Given the description of an element on the screen output the (x, y) to click on. 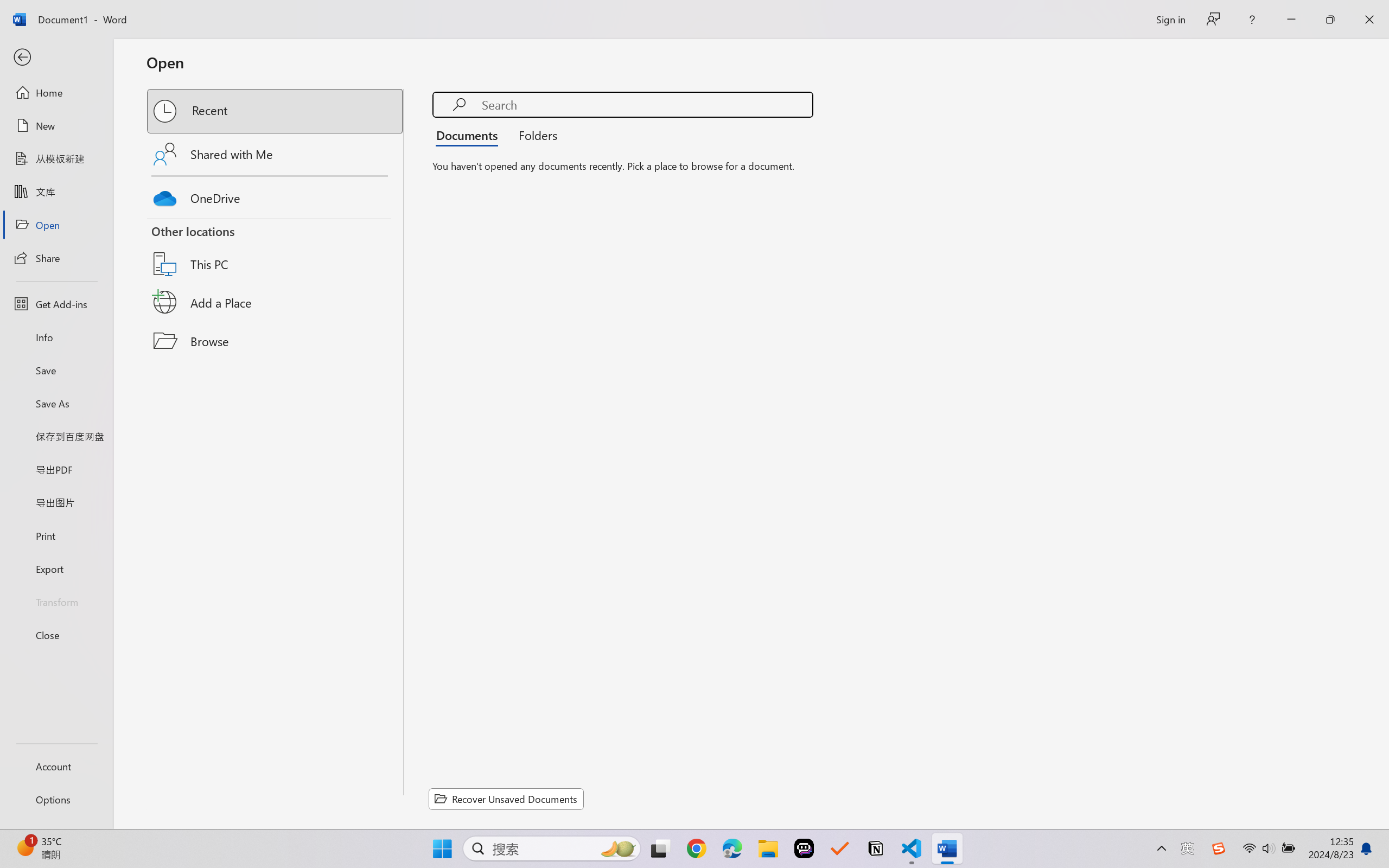
Shared with Me (275, 153)
Add a Place (275, 302)
Get Add-ins (56, 303)
This PC (275, 249)
Recent (275, 110)
Options (56, 798)
Save As (56, 403)
